Given the description of an element on the screen output the (x, y) to click on. 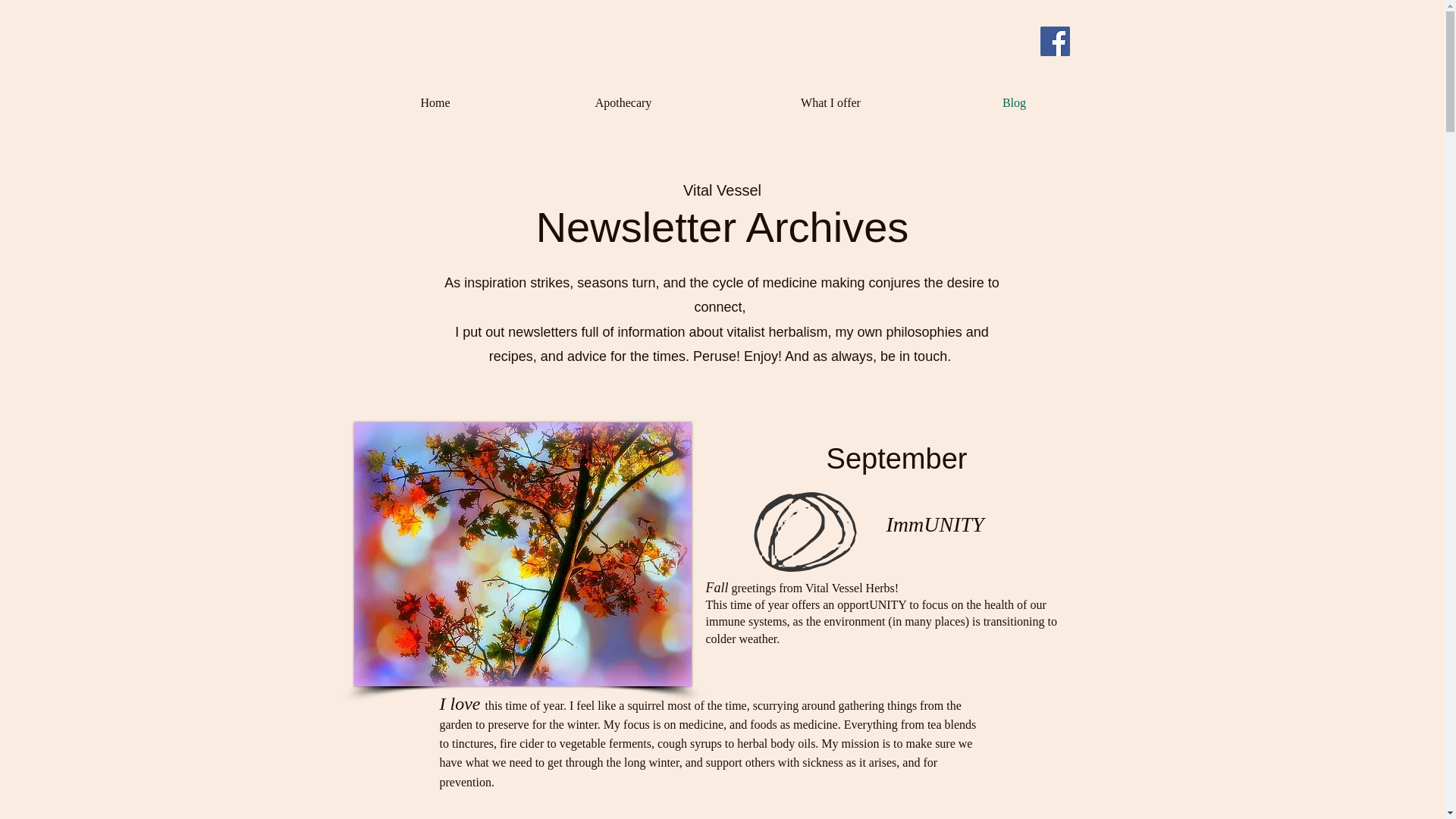
Home (434, 103)
What I offer (830, 103)
Apothecary (622, 103)
Blog (1013, 103)
